Given the description of an element on the screen output the (x, y) to click on. 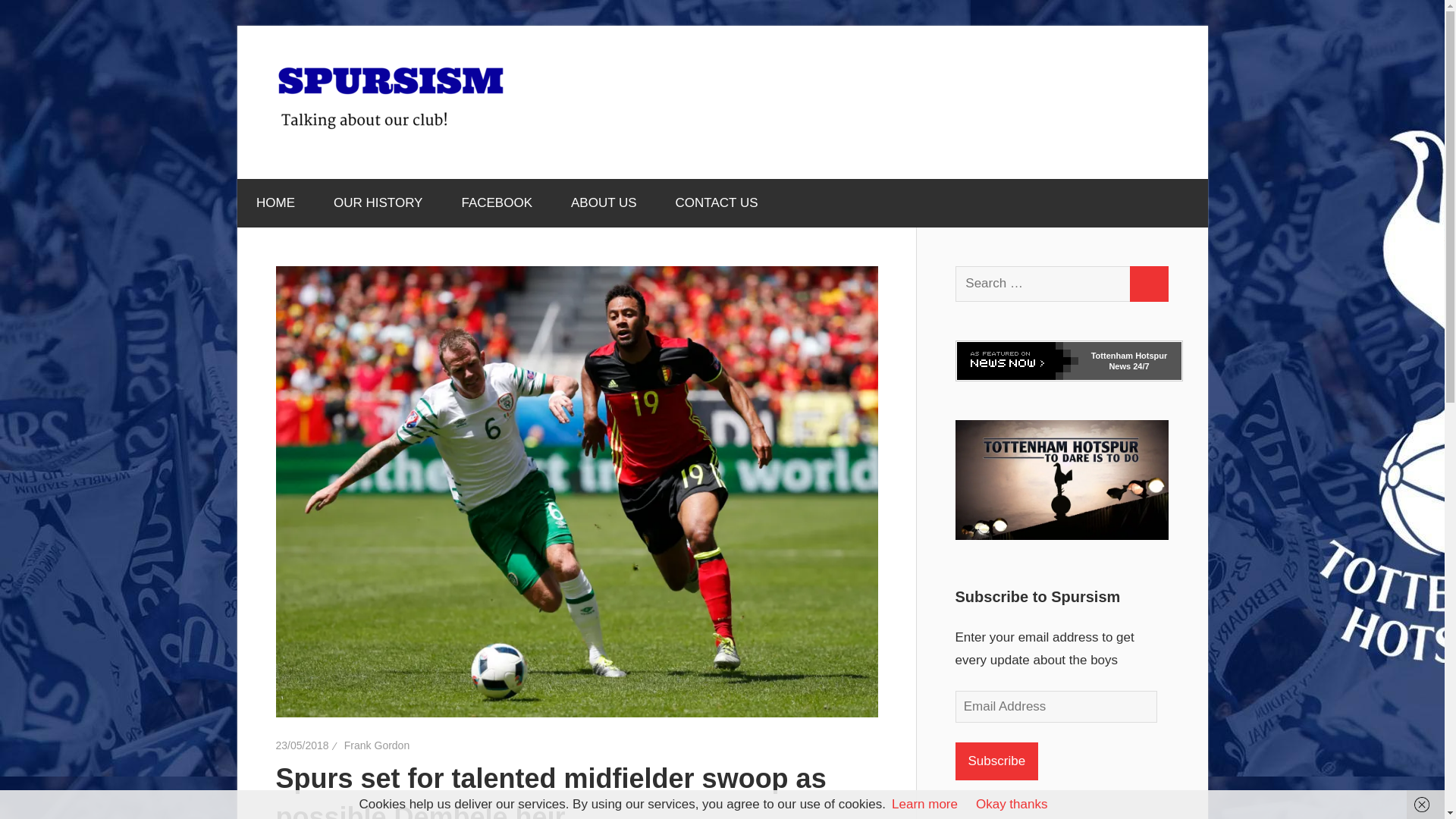
Okay thanks (1011, 803)
Click here for more Tottenham Hotspur news from NewsNow (1128, 361)
Click here for more Tottenham Hotspur news from NewsNow (1017, 361)
Learn more (924, 803)
OUR HISTORY (377, 203)
FACEBOOK (496, 203)
Advertisement (893, 101)
9:16 am (302, 745)
Search (1148, 283)
View all posts by Frank Gordon (376, 745)
ABOUT US (603, 203)
HOME (274, 203)
Search for: (1043, 283)
CONTACT US (716, 203)
